Given the description of an element on the screen output the (x, y) to click on. 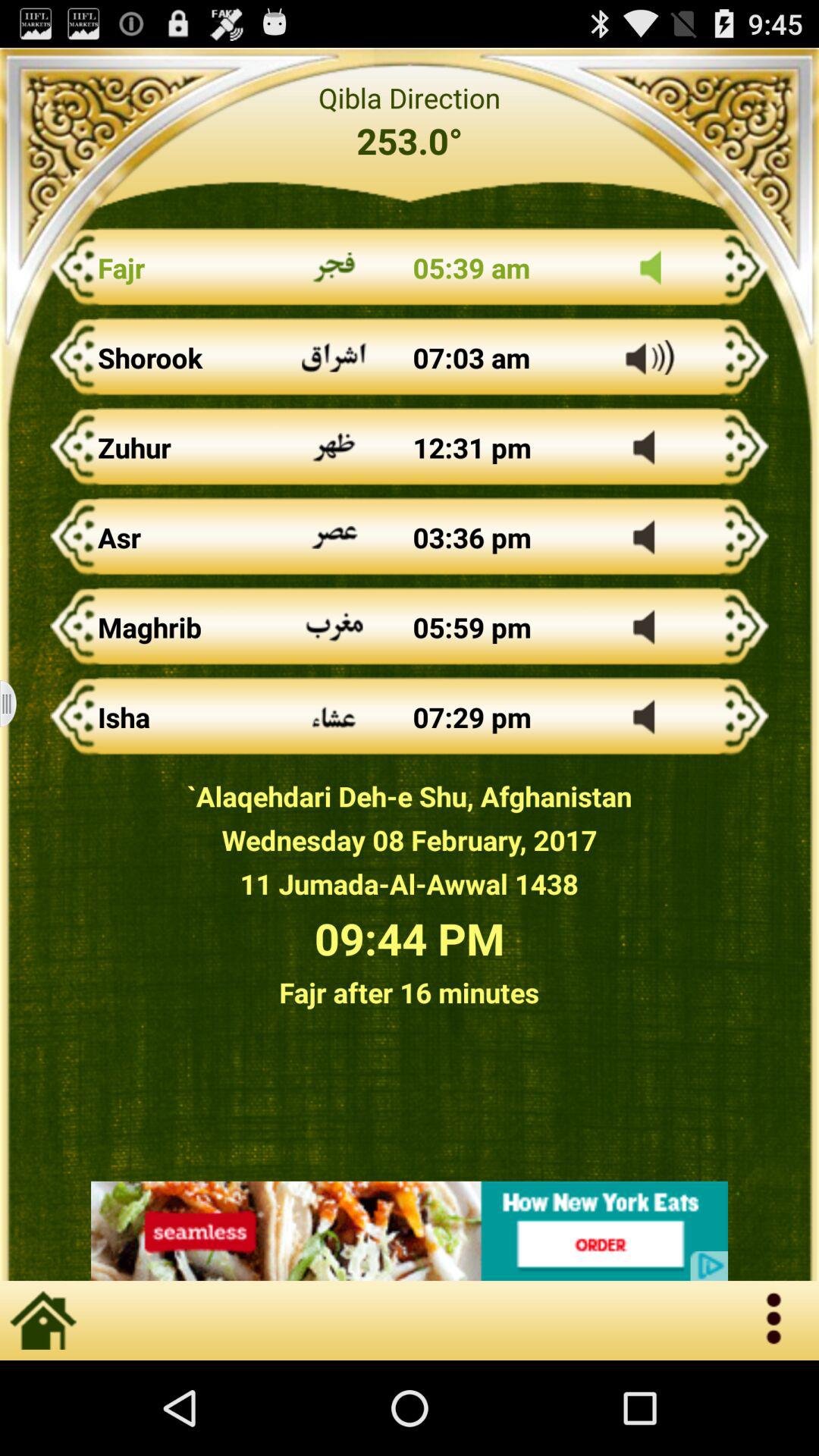
side navigation menu (18, 703)
